Given the description of an element on the screen output the (x, y) to click on. 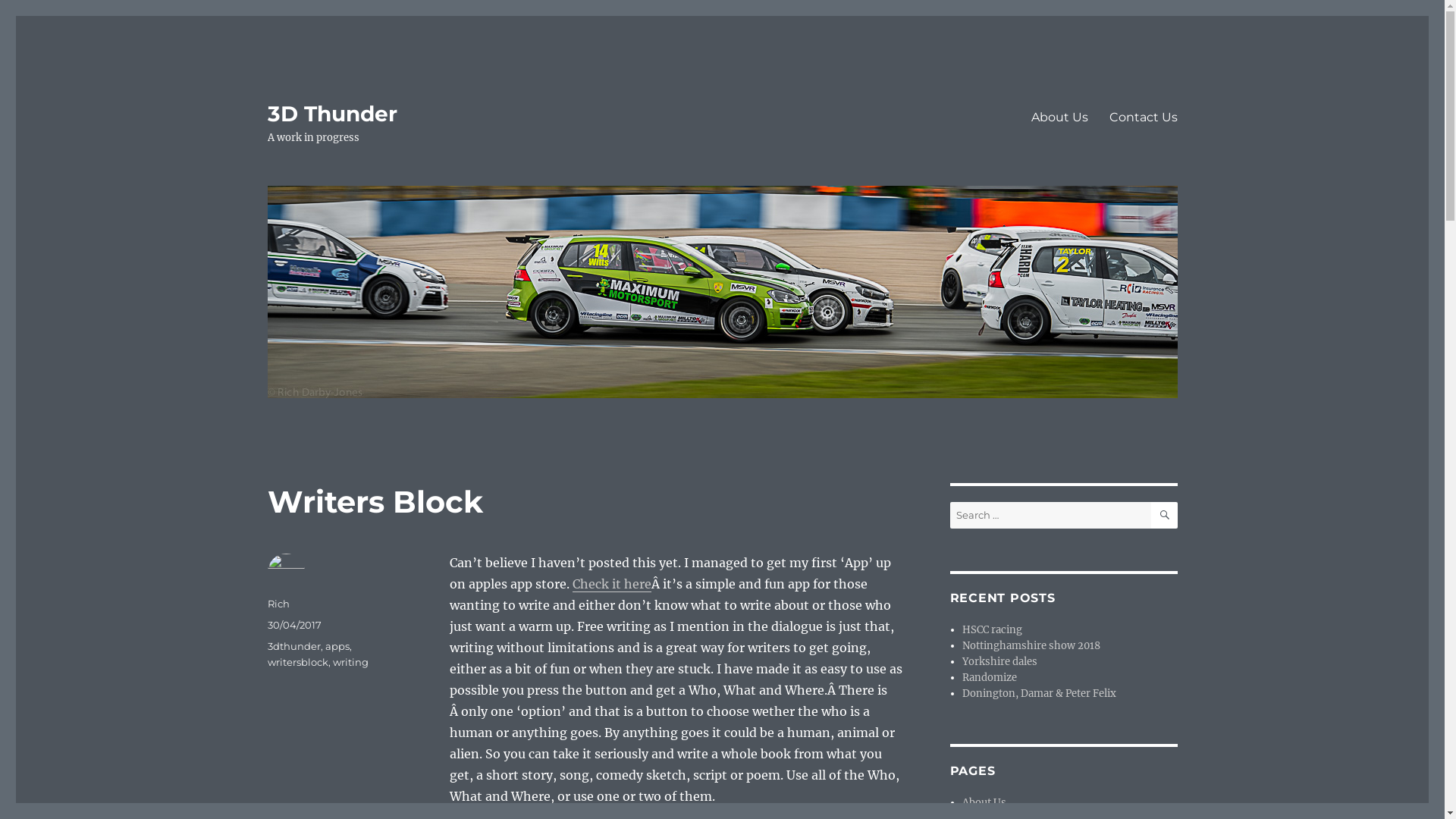
30/04/2017 Element type: text (293, 624)
SEARCH Element type: text (1164, 515)
3D Thunder Element type: text (331, 113)
Nottinghamshire show 2018 Element type: text (1031, 645)
Yorkshire dales Element type: text (999, 661)
Randomize Element type: text (989, 677)
HSCC racing Element type: text (992, 629)
About Us Element type: text (984, 802)
Check it here Element type: text (610, 583)
Rich Element type: text (277, 603)
writing Element type: text (349, 661)
apps Element type: text (336, 646)
writersblock Element type: text (296, 661)
Donington, Damar & Peter Felix Element type: text (1039, 693)
3dthunder Element type: text (293, 646)
Contact Us Element type: text (1142, 116)
About Us Element type: text (1059, 116)
